Given the description of an element on the screen output the (x, y) to click on. 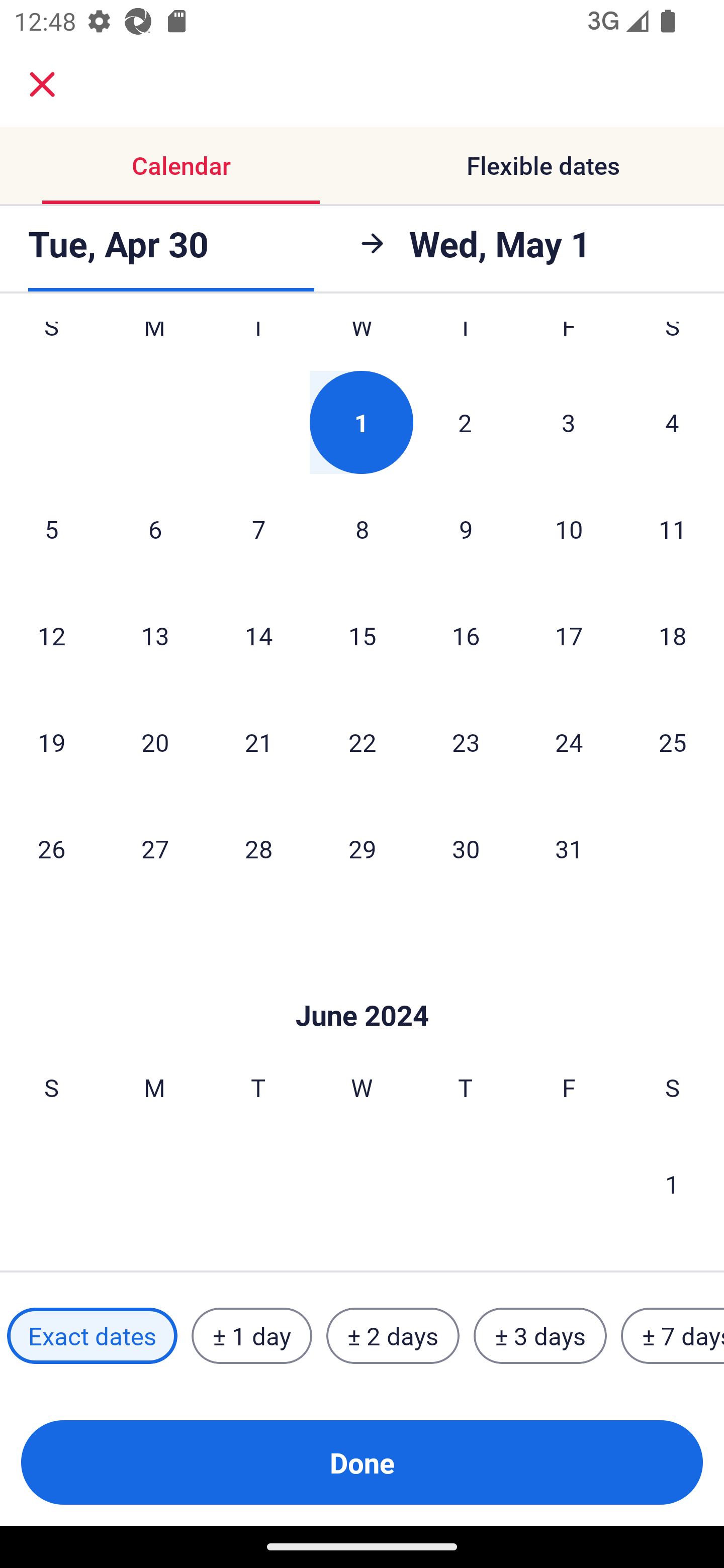
close. (42, 84)
Flexible dates (542, 164)
2 Thursday, May 2, 2024 (464, 422)
3 Friday, May 3, 2024 (568, 422)
4 Saturday, May 4, 2024 (672, 422)
5 Sunday, May 5, 2024 (51, 528)
6 Monday, May 6, 2024 (155, 528)
7 Tuesday, May 7, 2024 (258, 528)
8 Wednesday, May 8, 2024 (362, 528)
9 Thursday, May 9, 2024 (465, 528)
10 Friday, May 10, 2024 (569, 528)
11 Saturday, May 11, 2024 (672, 528)
12 Sunday, May 12, 2024 (51, 634)
13 Monday, May 13, 2024 (155, 634)
14 Tuesday, May 14, 2024 (258, 634)
15 Wednesday, May 15, 2024 (362, 634)
16 Thursday, May 16, 2024 (465, 634)
17 Friday, May 17, 2024 (569, 634)
18 Saturday, May 18, 2024 (672, 634)
19 Sunday, May 19, 2024 (51, 741)
20 Monday, May 20, 2024 (155, 741)
21 Tuesday, May 21, 2024 (258, 741)
22 Wednesday, May 22, 2024 (362, 741)
23 Thursday, May 23, 2024 (465, 741)
24 Friday, May 24, 2024 (569, 741)
25 Saturday, May 25, 2024 (672, 741)
26 Sunday, May 26, 2024 (51, 848)
27 Monday, May 27, 2024 (155, 848)
28 Tuesday, May 28, 2024 (258, 848)
29 Wednesday, May 29, 2024 (362, 848)
30 Thursday, May 30, 2024 (465, 848)
31 Friday, May 31, 2024 (569, 848)
Skip to Done (362, 985)
1 Saturday, June 1, 2024 (672, 1183)
Exact dates (92, 1335)
± 1 day (251, 1335)
± 2 days (392, 1335)
± 3 days (539, 1335)
± 7 days (672, 1335)
Done (361, 1462)
